Given the description of an element on the screen output the (x, y) to click on. 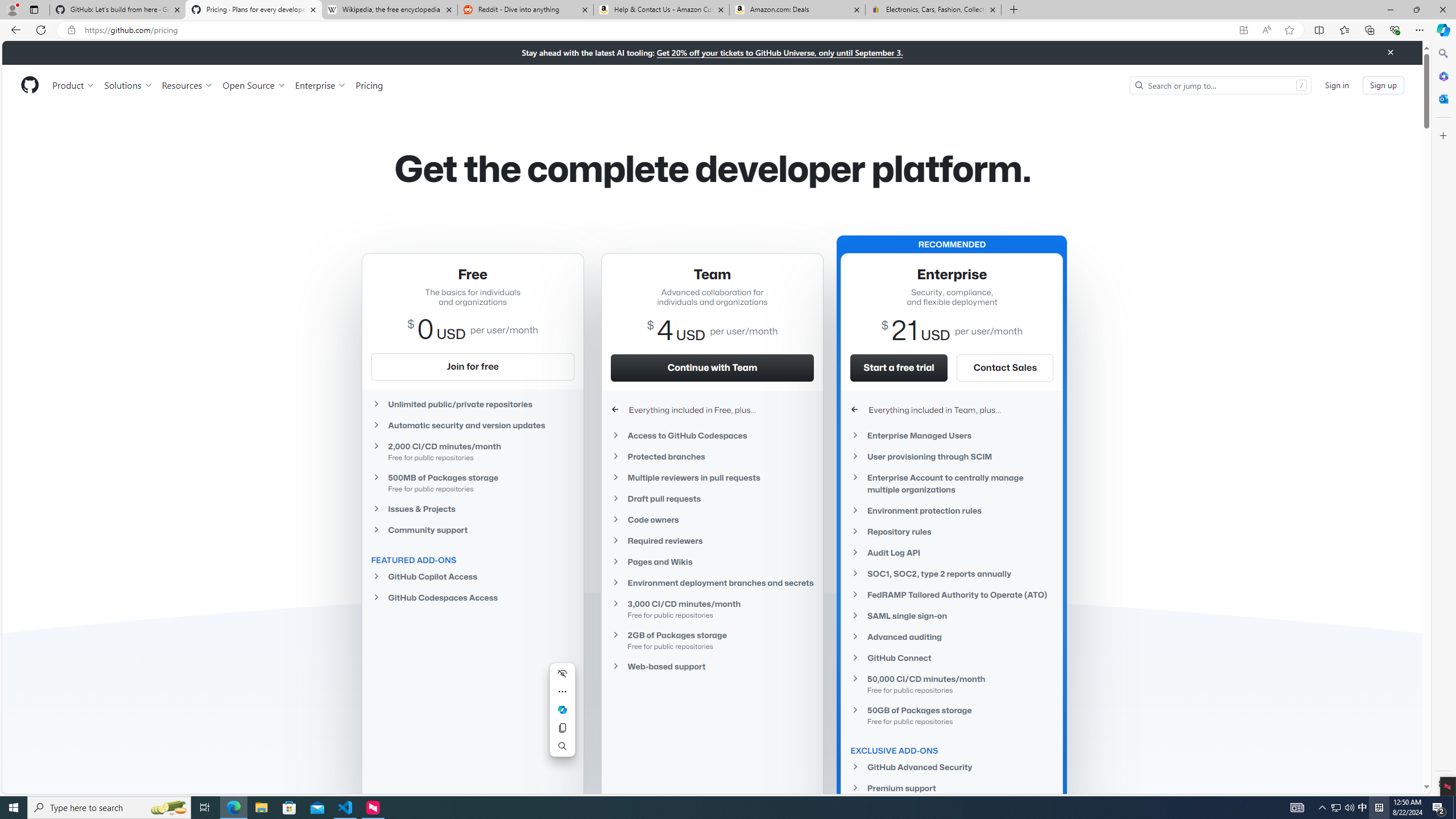
Community support (473, 529)
50GB of Packages storageFree for public repositories (952, 714)
Draft pull requests (711, 498)
2GB of Packages storage Free for public repositories (711, 640)
Community support (473, 529)
Access to GitHub Codespaces (711, 435)
Enterprise (319, 84)
GitHub Connect (952, 658)
